Given the description of an element on the screen output the (x, y) to click on. 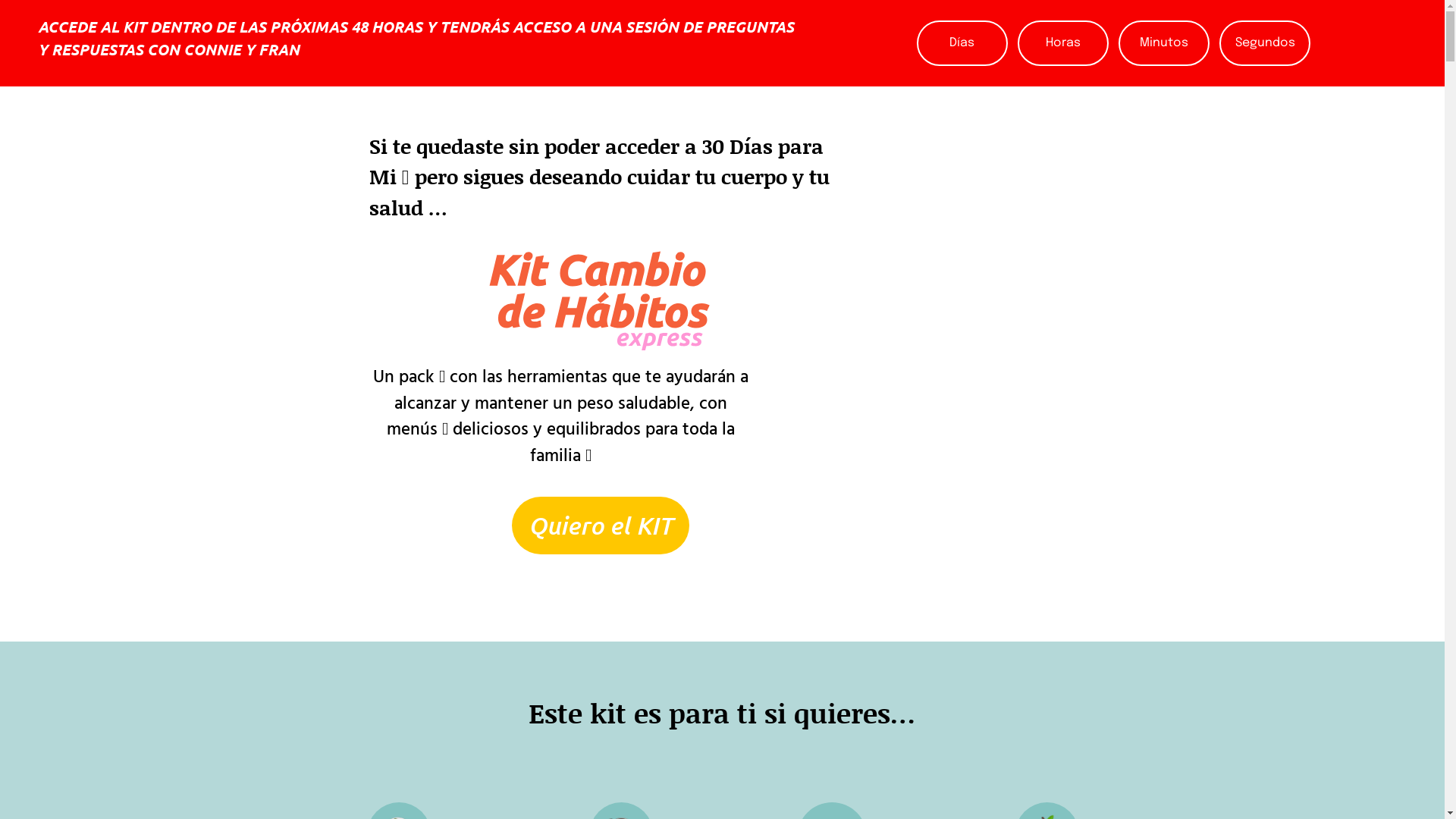
Quiero el KIT Element type: text (600, 525)
